Given the description of an element on the screen output the (x, y) to click on. 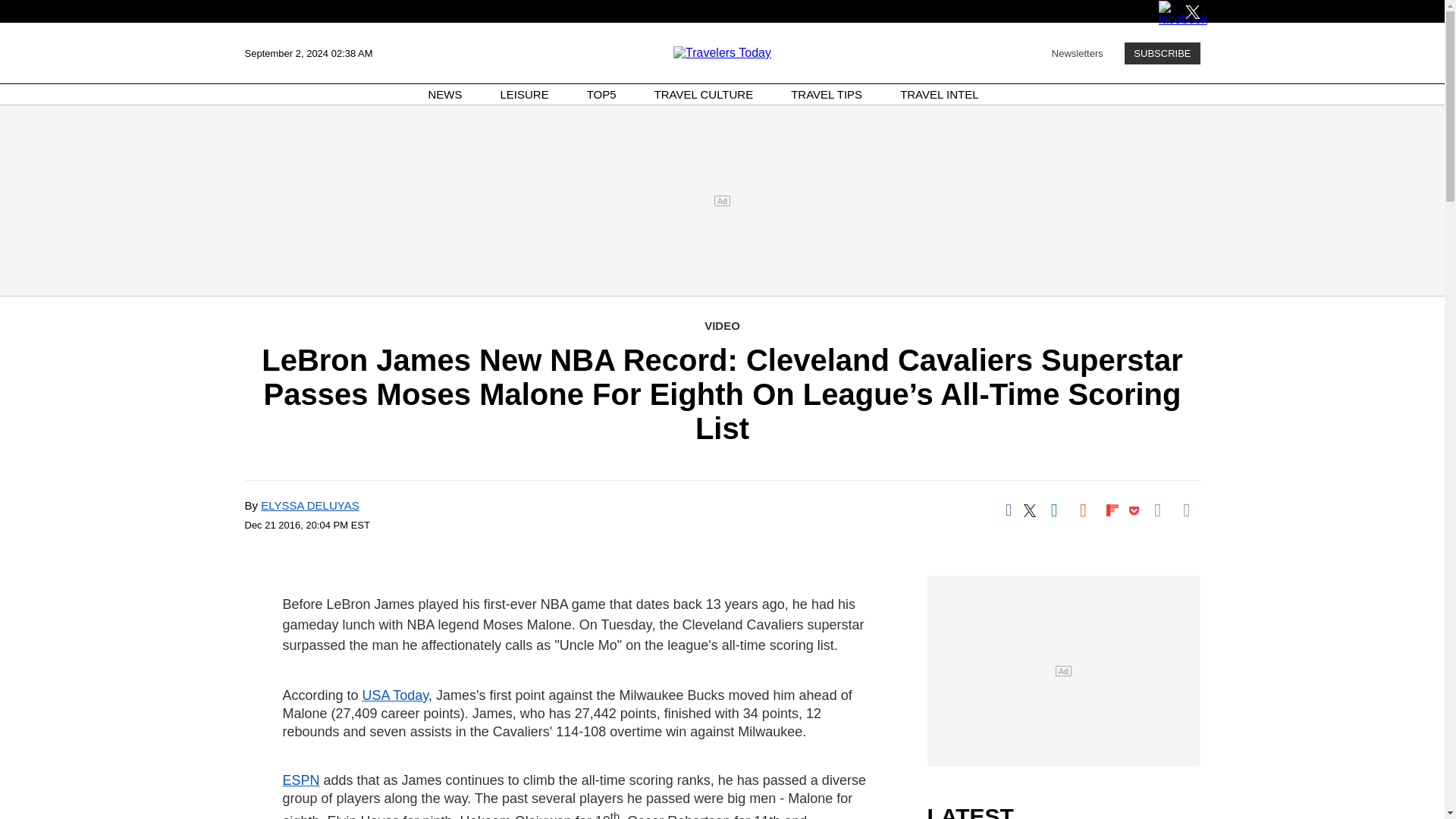
USA Today (395, 694)
LEISURE (524, 93)
Newsletters (1077, 52)
SUBSCRIBE (1161, 53)
Share on Reddit (1083, 510)
NEWS (445, 93)
VIDEO (721, 325)
Share on Flipboard (1112, 510)
Share on Facebook (1008, 510)
ESPN (300, 780)
